Given the description of an element on the screen output the (x, y) to click on. 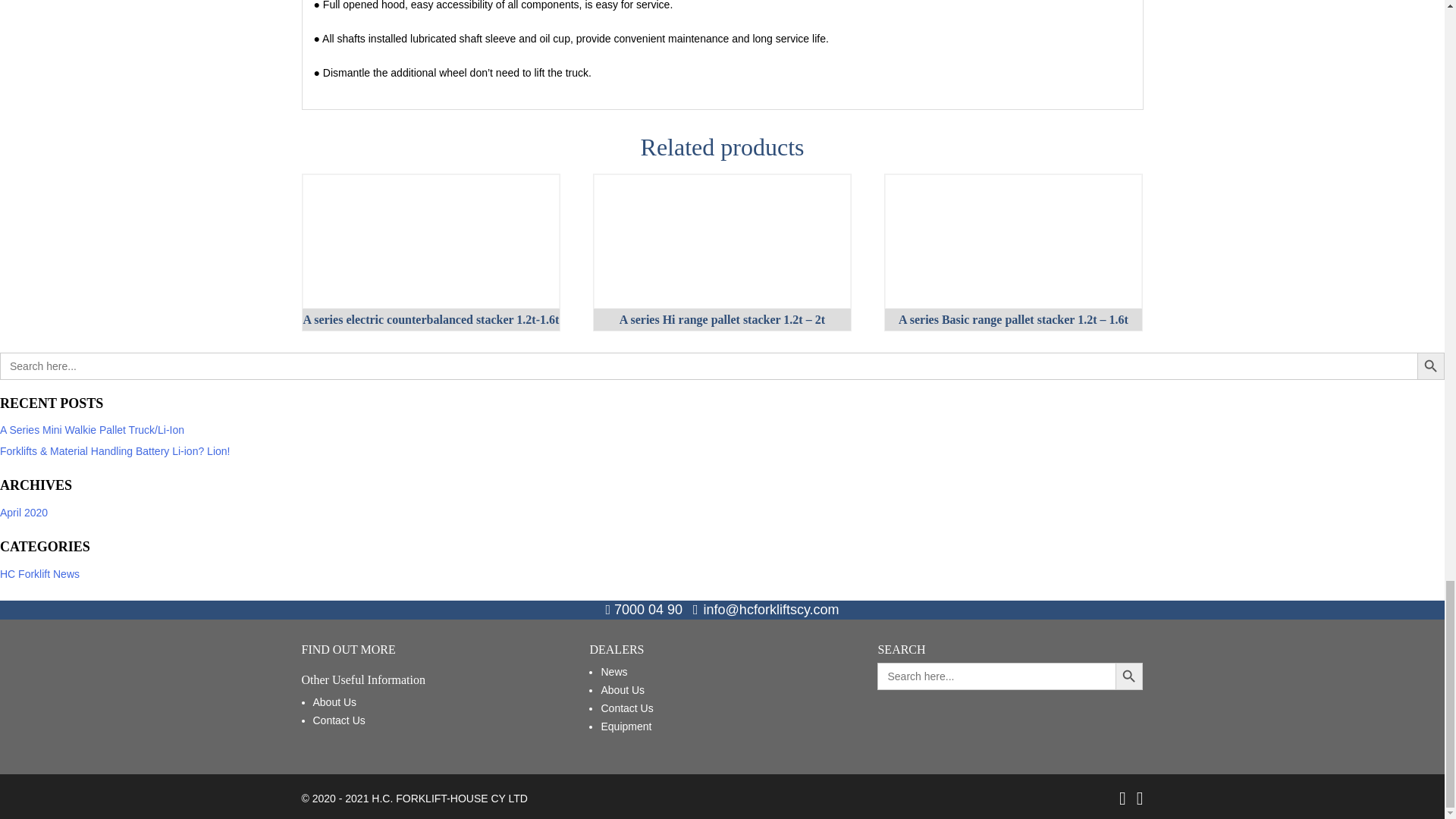
7000 04 90 (643, 609)
April 2020 (24, 512)
HC Forklift News (40, 573)
A series electric counterbalanced stacker 1.2t-1.6t (430, 319)
A series electric counterbalanced stacker 1.2t-1.6t (431, 241)
